Given the description of an element on the screen output the (x, y) to click on. 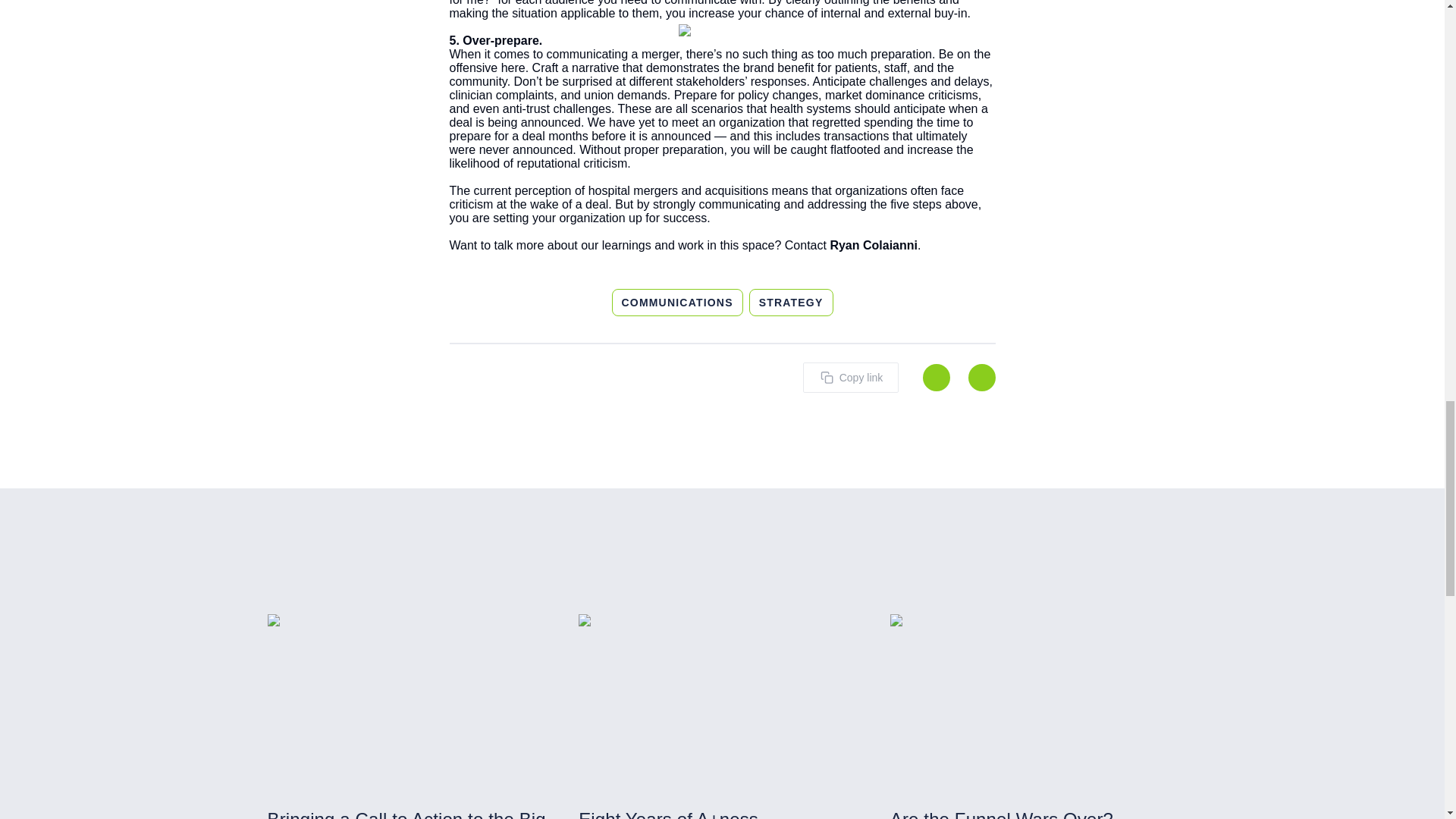
COMMUNICATIONS (676, 302)
Copy link (850, 377)
Are the Funnel Wars Over? (1033, 813)
STRATEGY (790, 302)
Ryan Colaianni (873, 245)
Bringing a Call to Action to the Big Screen (410, 813)
